Given the description of an element on the screen output the (x, y) to click on. 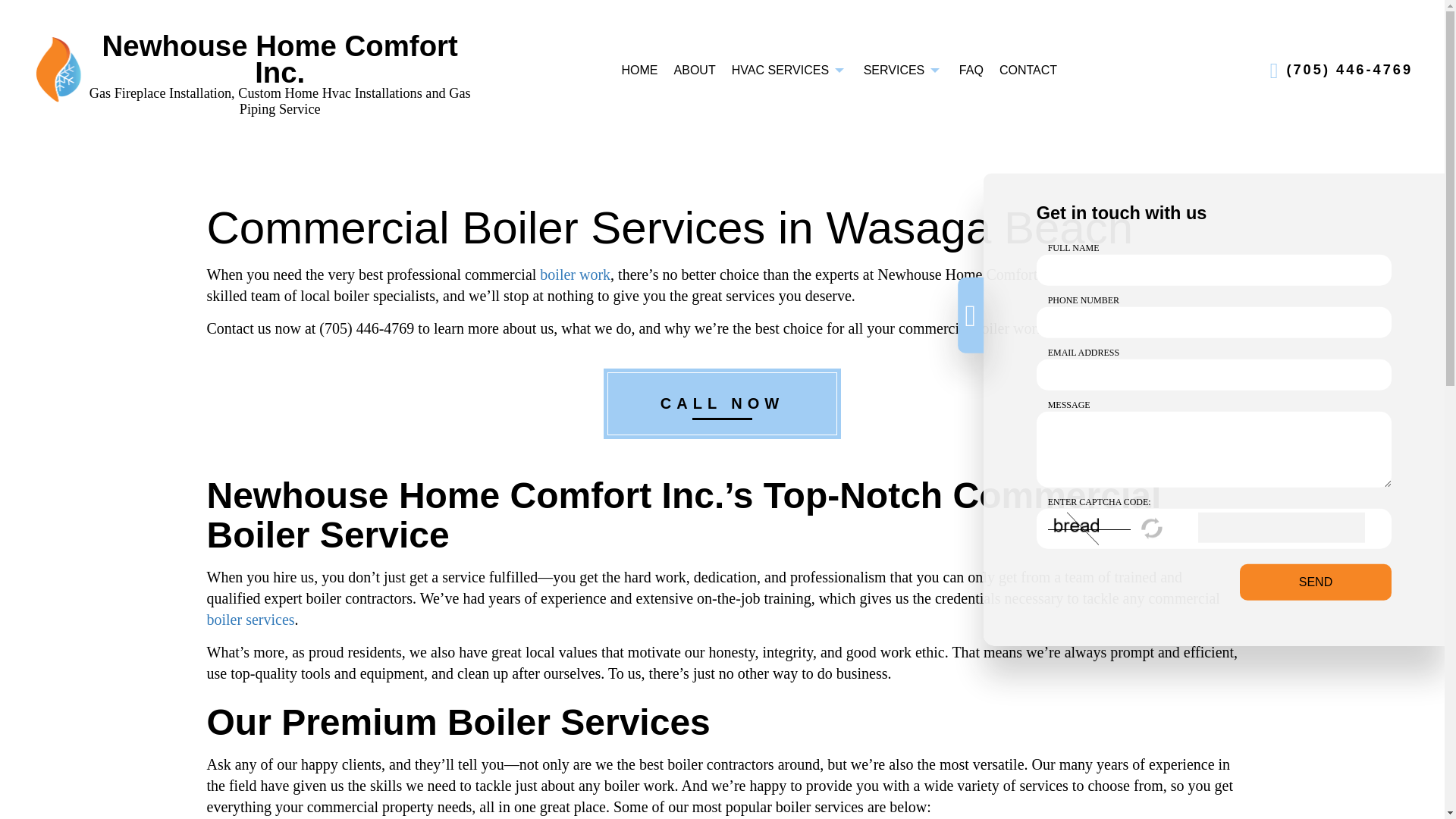
Full Name (1213, 269)
Email Address (1213, 374)
Enter your message (1213, 449)
Refresh Captcha (1152, 528)
back to Newhouse Home Comfort Inc. home page (279, 59)
Newhouse Home Comfort Inc. (58, 68)
Enter Captcha (1281, 527)
Phone Number (1213, 322)
